Given the description of an element on the screen output the (x, y) to click on. 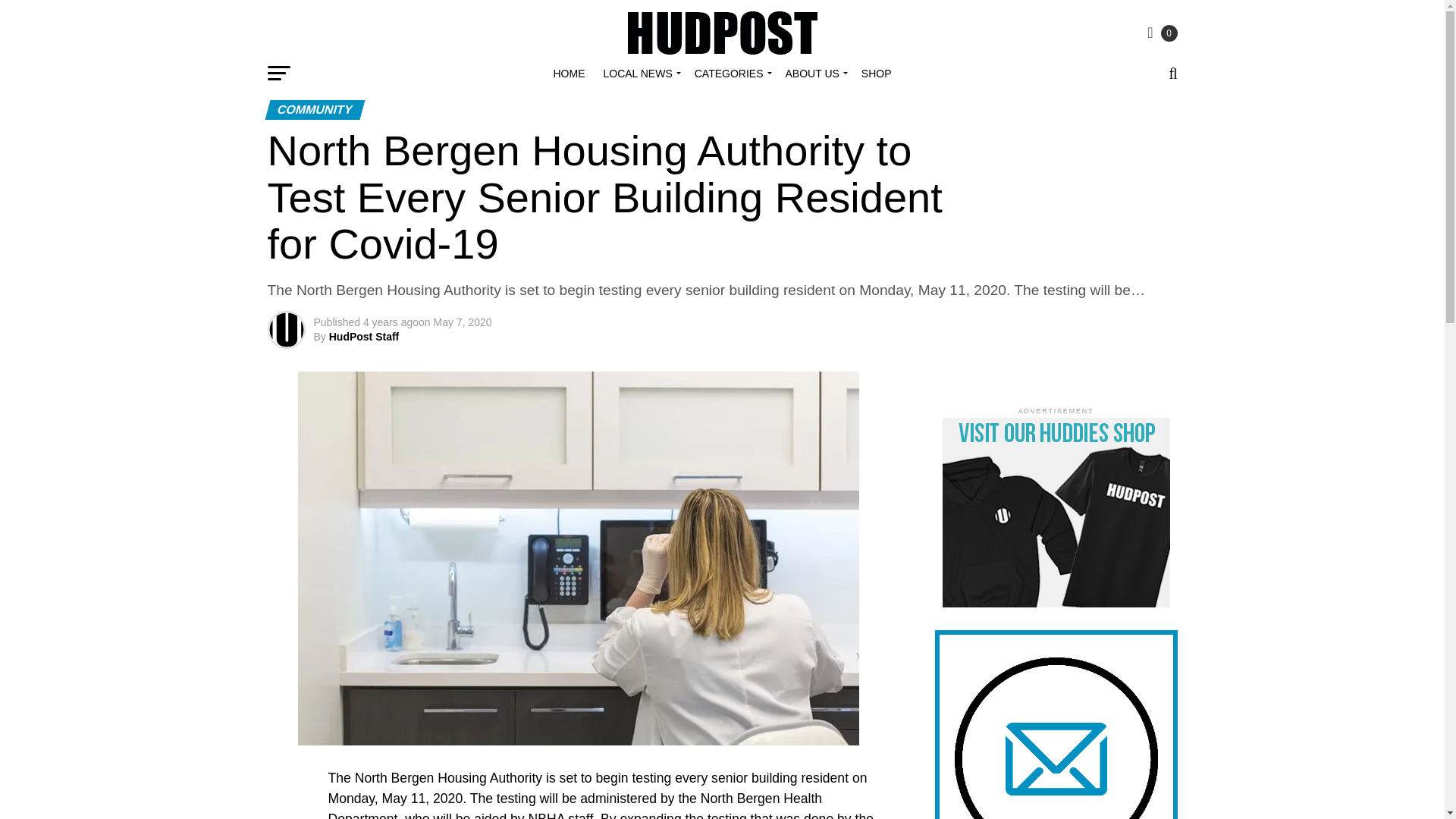
Posts by HudPost Staff (363, 336)
